Given the description of an element on the screen output the (x, y) to click on. 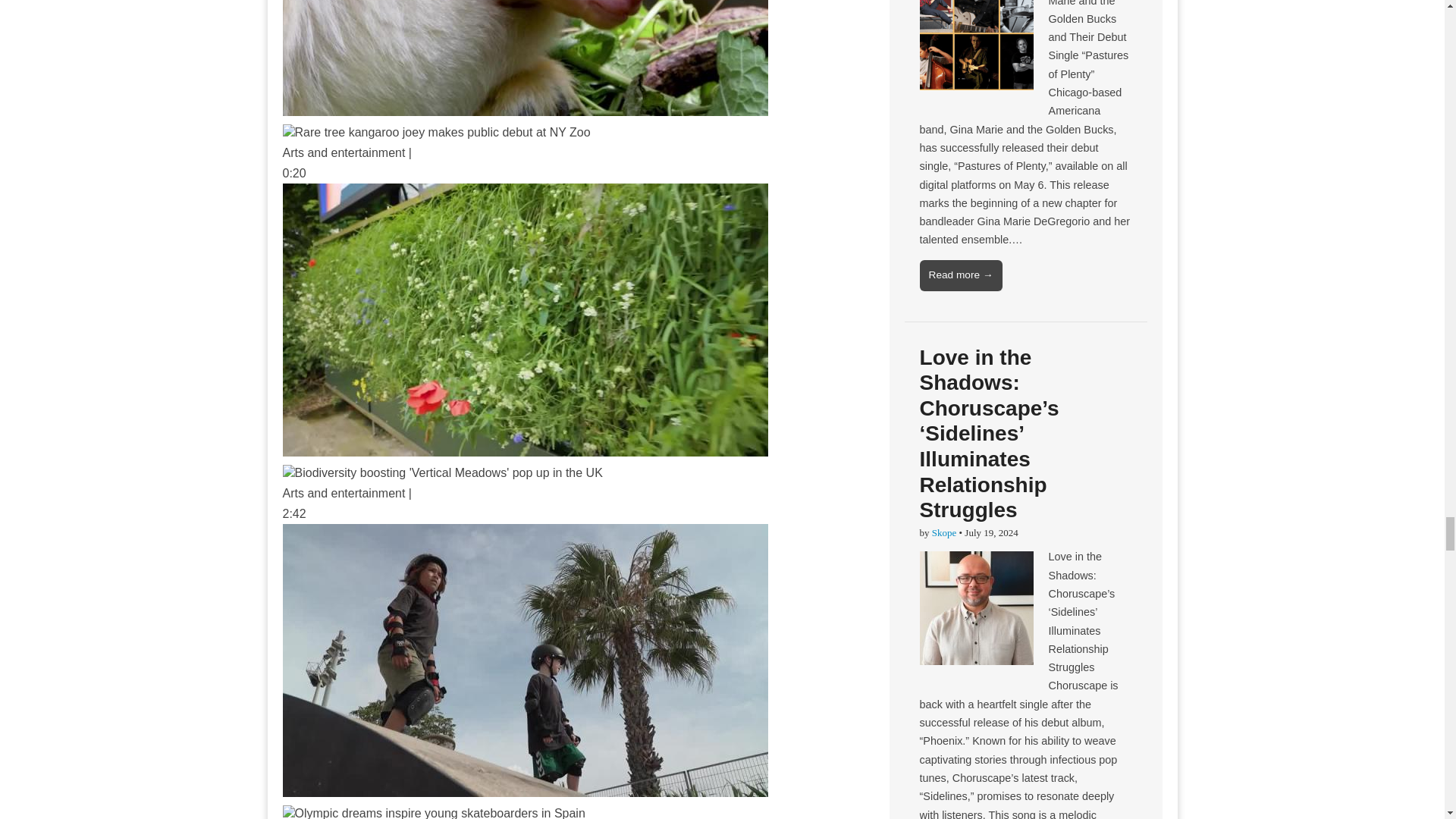
Posts by Skope (943, 532)
